Given the description of an element on the screen output the (x, y) to click on. 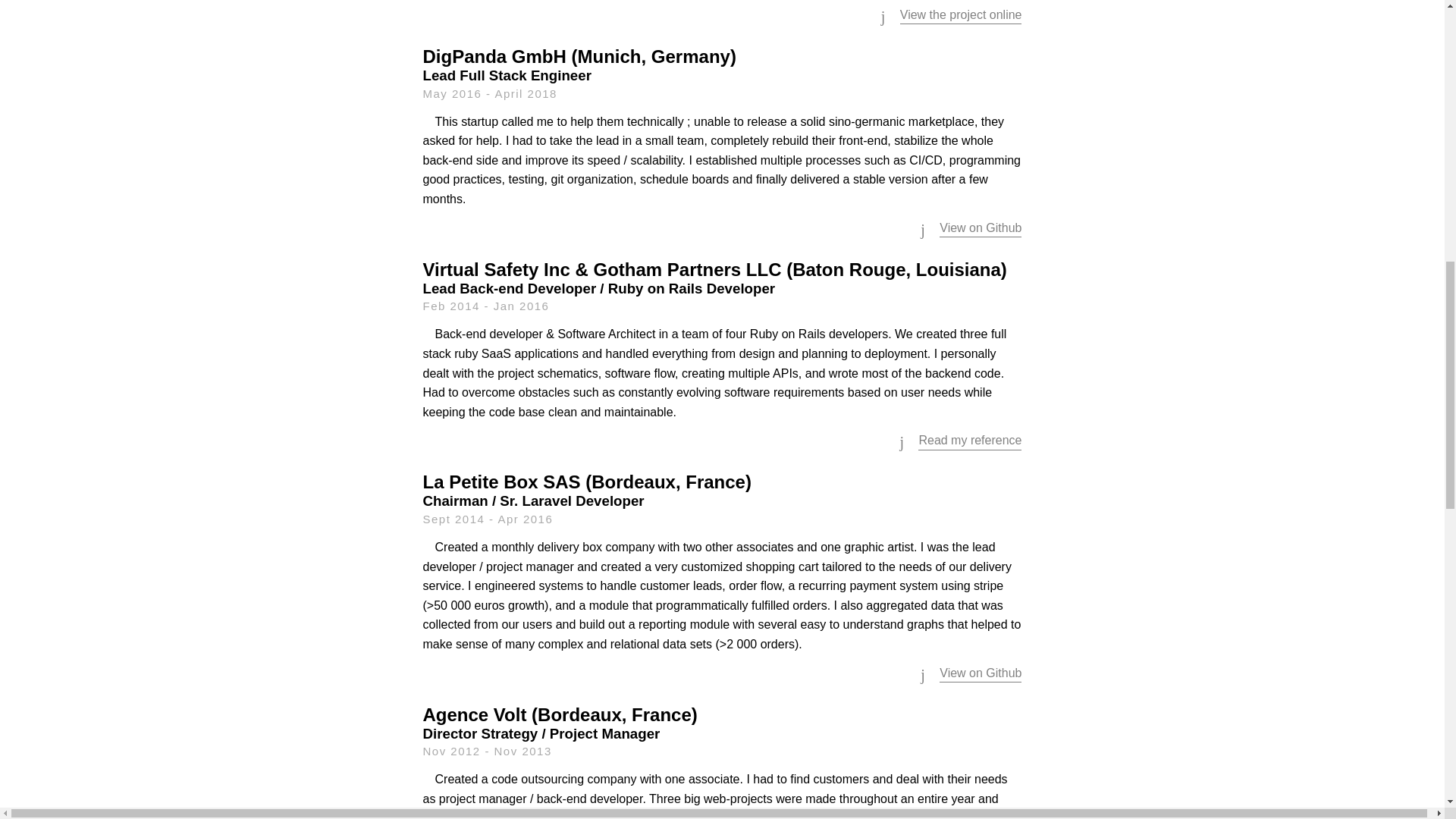
View on Github (980, 672)
View the project online (960, 14)
Read my reference (970, 440)
View on Github (980, 227)
